Given the description of an element on the screen output the (x, y) to click on. 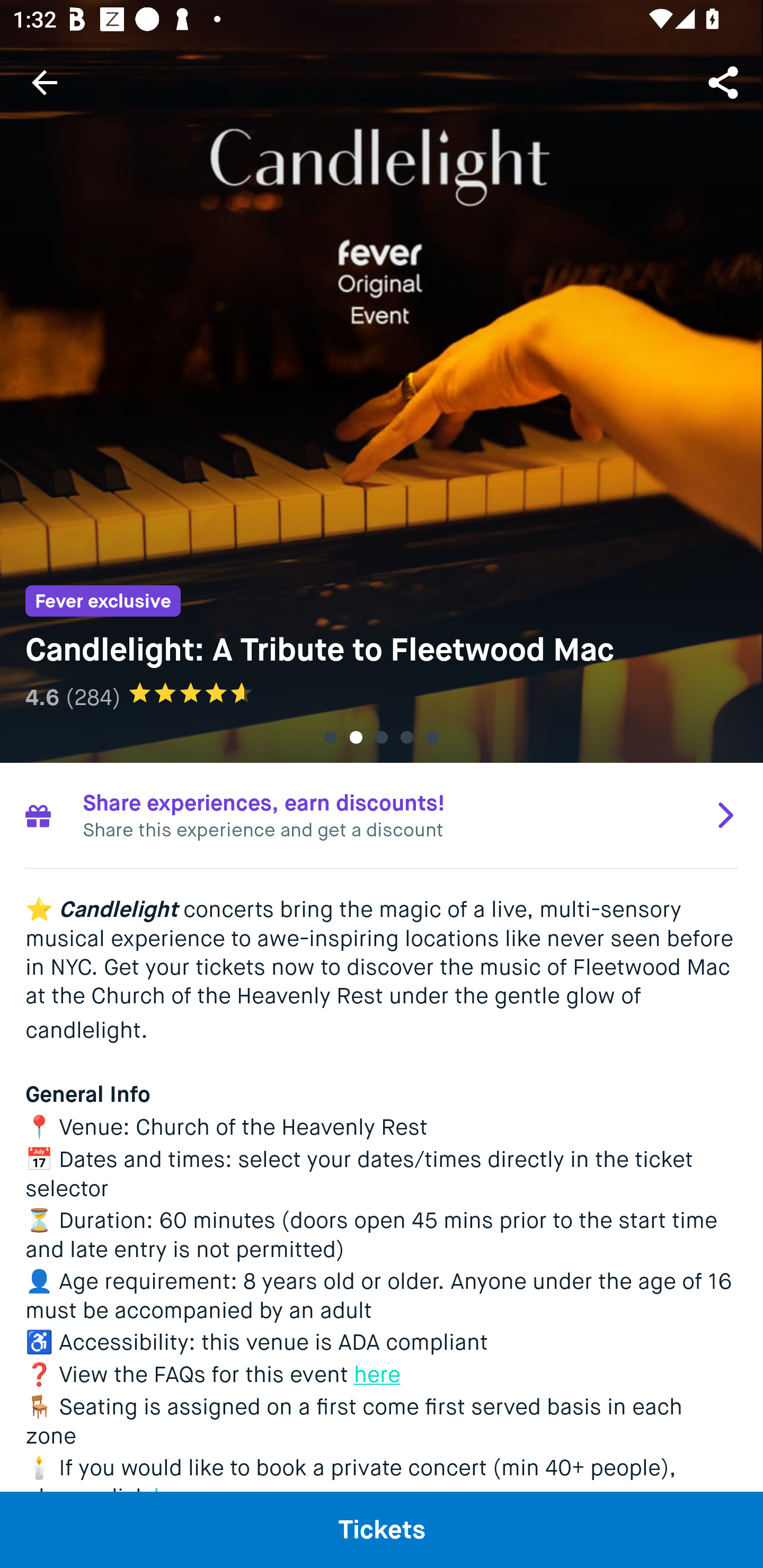
Navigate up (44, 82)
Share (724, 81)
(284) (92, 697)
Tickets (381, 1529)
